Given the description of an element on the screen output the (x, y) to click on. 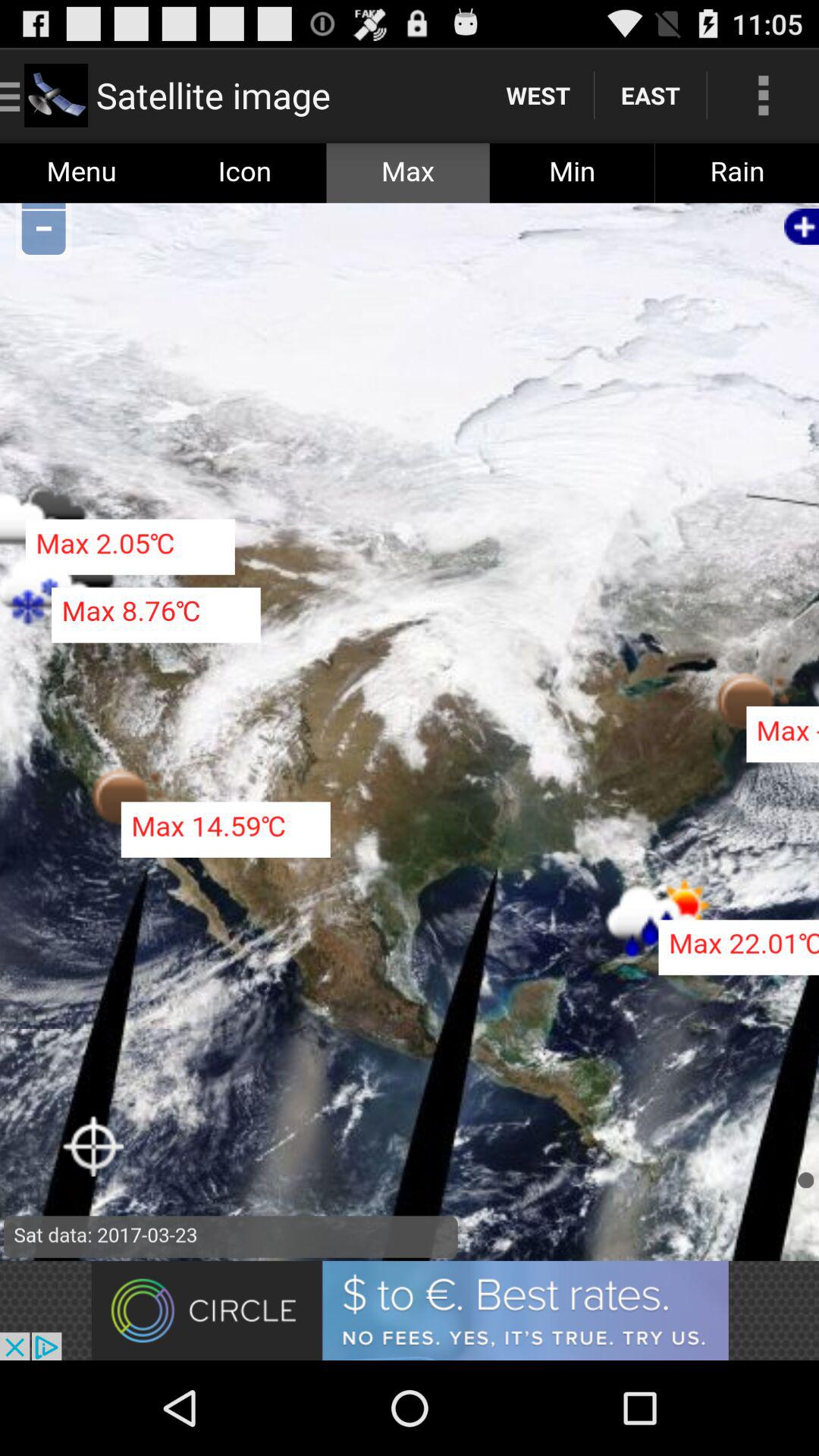
open advertisement (409, 1310)
